Given the description of an element on the screen output the (x, y) to click on. 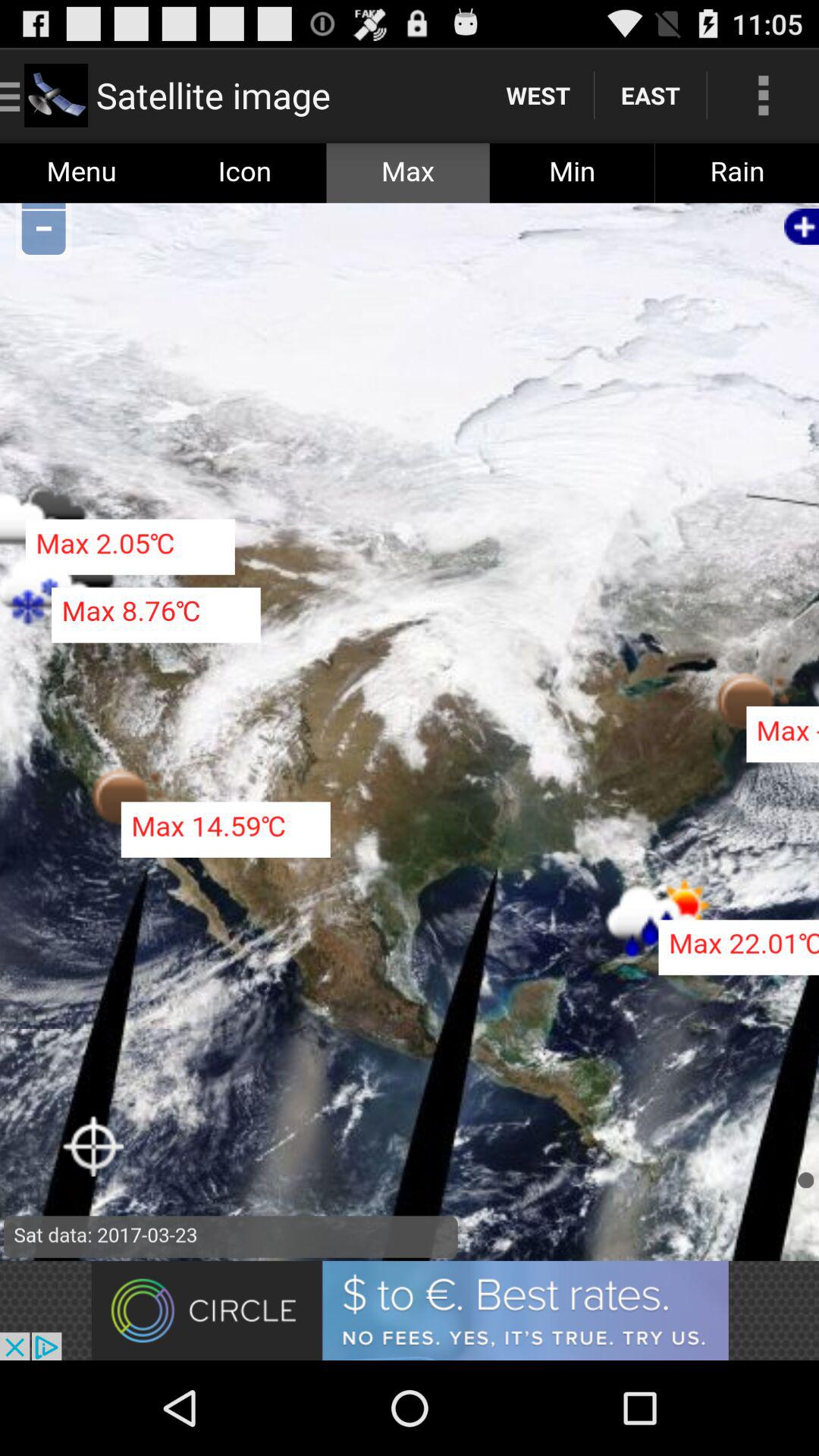
open advertisement (409, 1310)
